Given the description of an element on the screen output the (x, y) to click on. 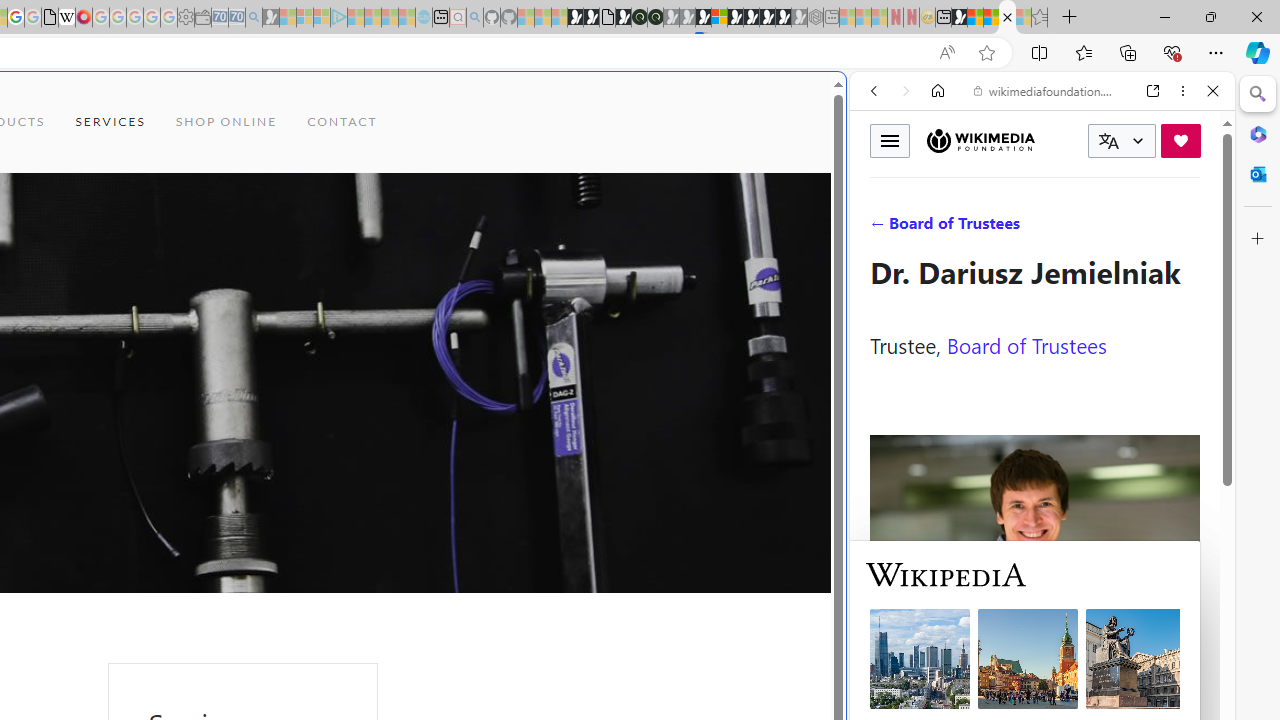
Search the web (1051, 137)
Preferences (1189, 228)
Play Free Online Games | Games from Microsoft Start (751, 17)
Toggle menu (890, 140)
SEARCH TOOLS (1093, 228)
CONTACT (341, 122)
Search or enter web address (343, 191)
google_privacy_policy_zh-CN.pdf (49, 17)
SERVICES (110, 122)
